Given the description of an element on the screen output the (x, y) to click on. 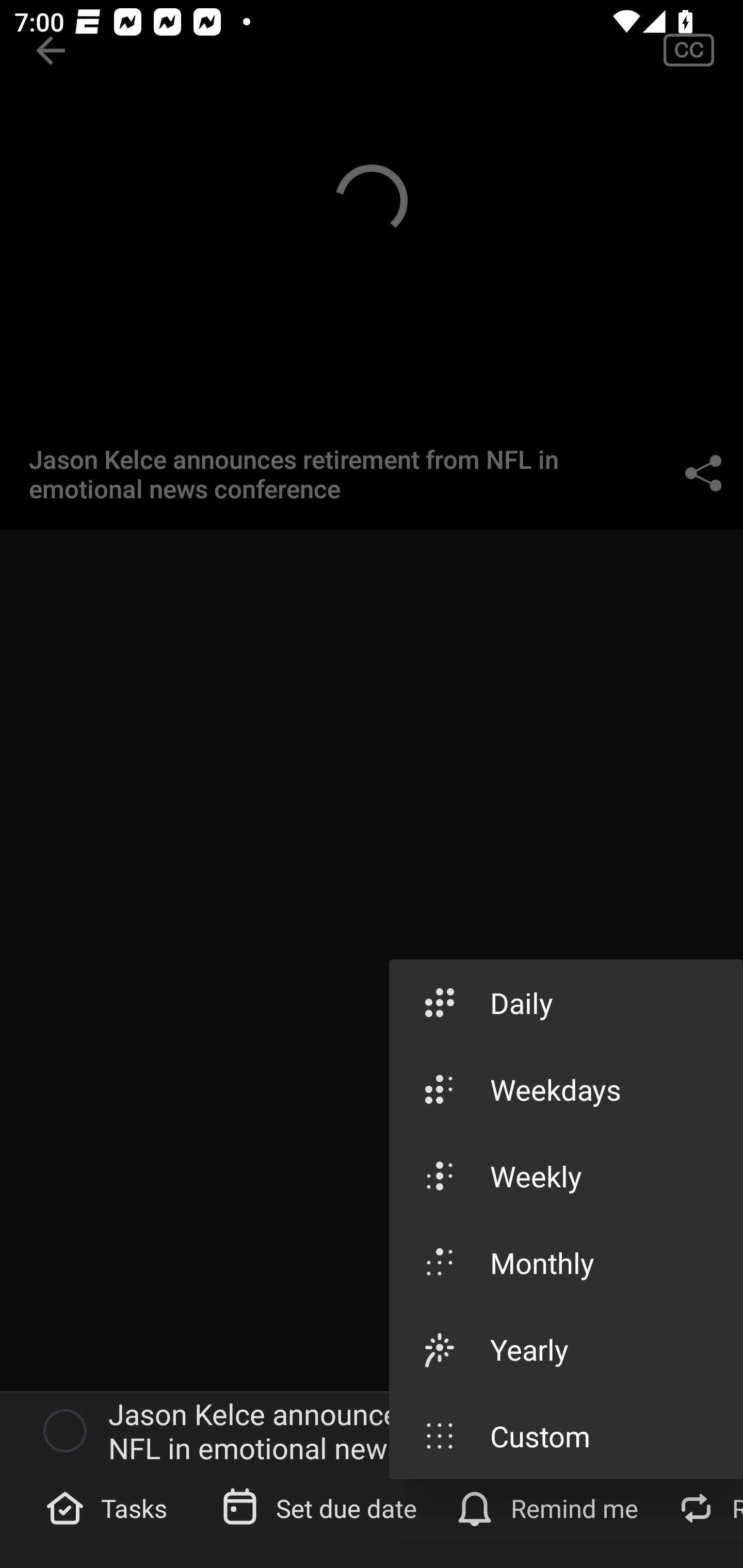
Daily1 in 6 Daily (566, 1002)
Weekdays2 in 6 Weekdays (566, 1088)
Weekly3 in 6 Weekly (566, 1175)
Monthly4 in 6 Monthly (566, 1262)
Yearly5 in 6 Yearly (566, 1349)
Custom6 in 6 Custom (566, 1435)
